Given the description of an element on the screen output the (x, y) to click on. 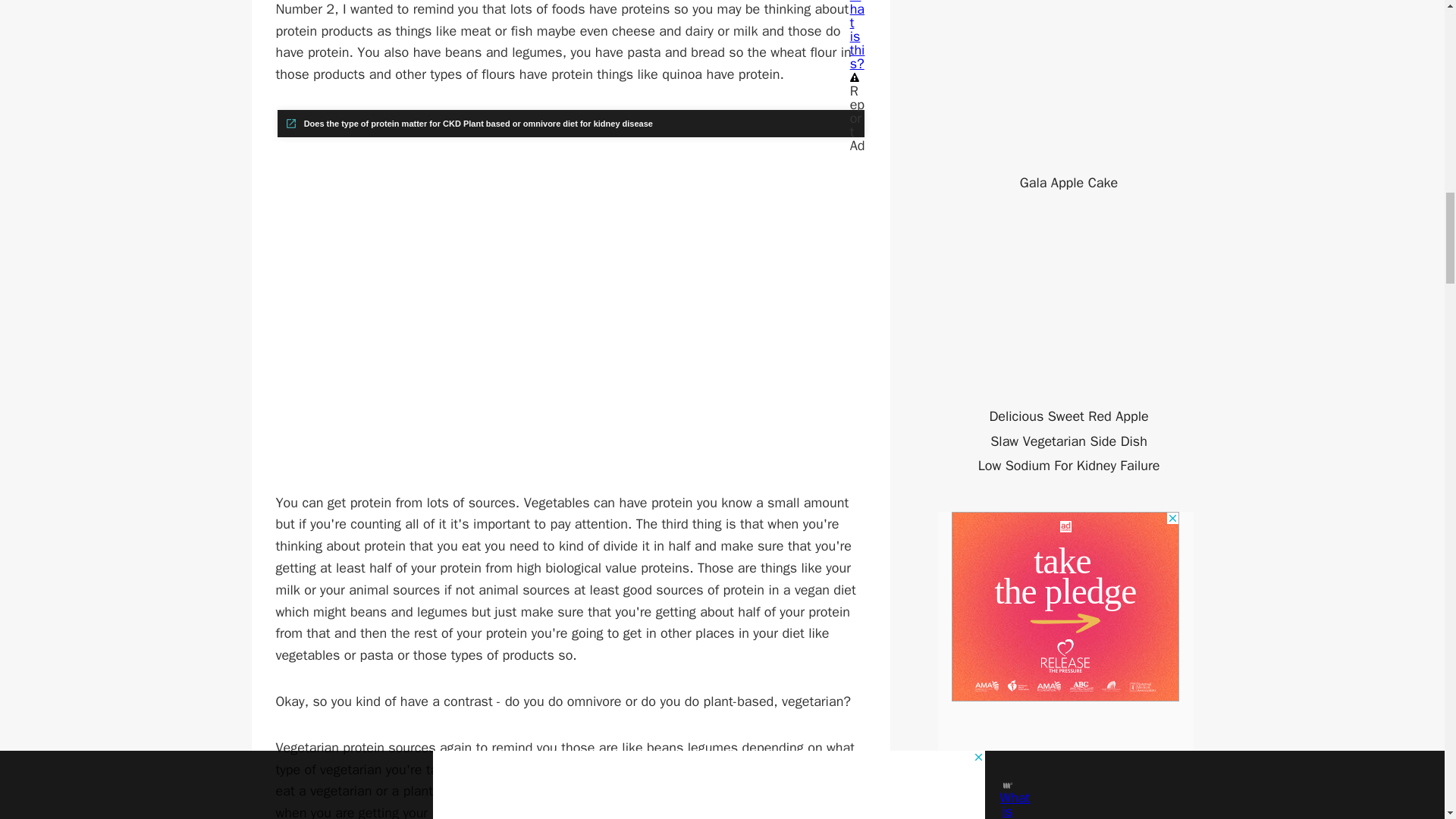
3rd party ad content (1065, 606)
